Given the description of an element on the screen output the (x, y) to click on. 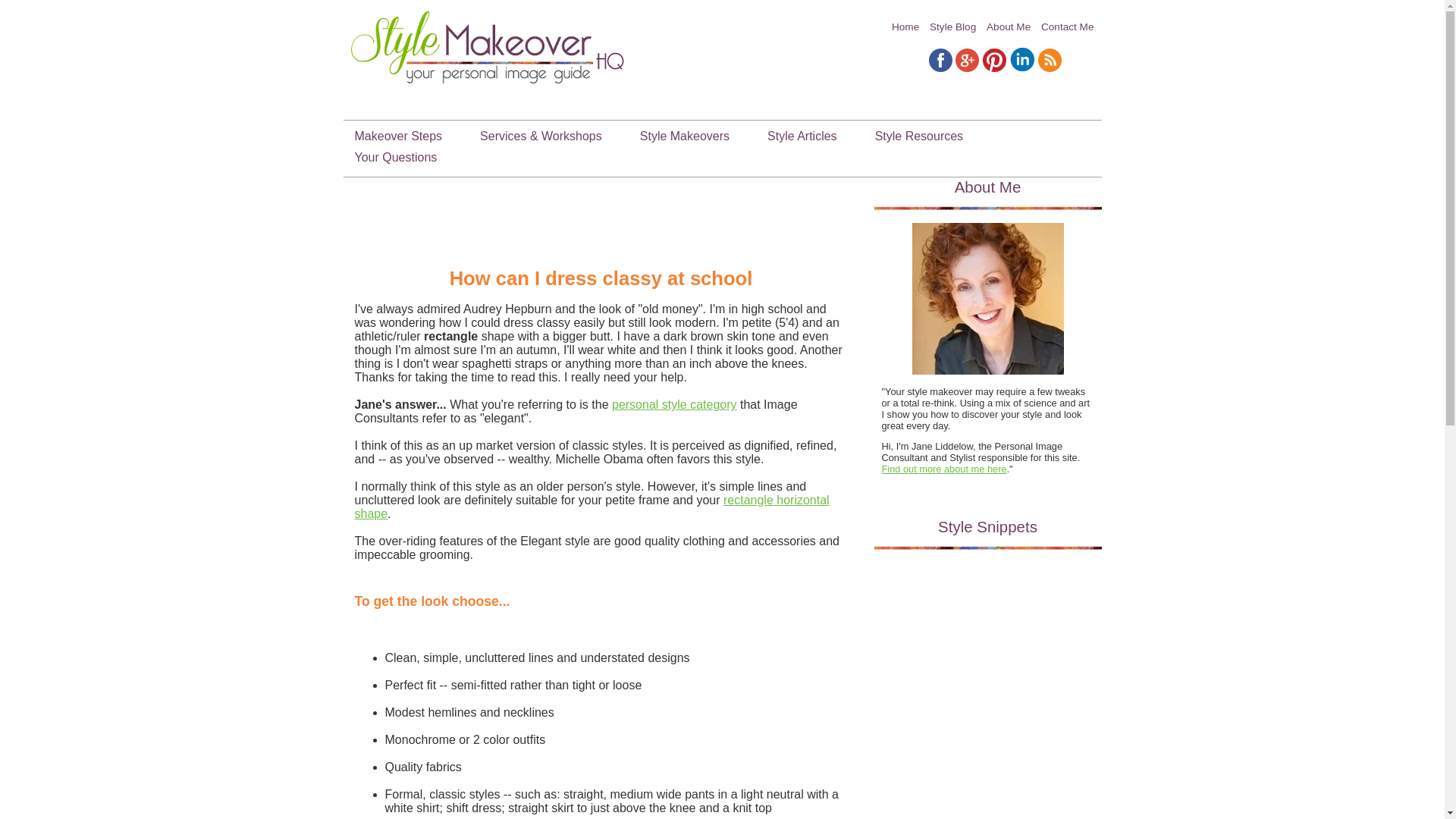
About Me (1008, 26)
Style Blog (952, 26)
Home (904, 26)
Contact Me (1067, 26)
Makeover Steps (397, 136)
